Given the description of an element on the screen output the (x, y) to click on. 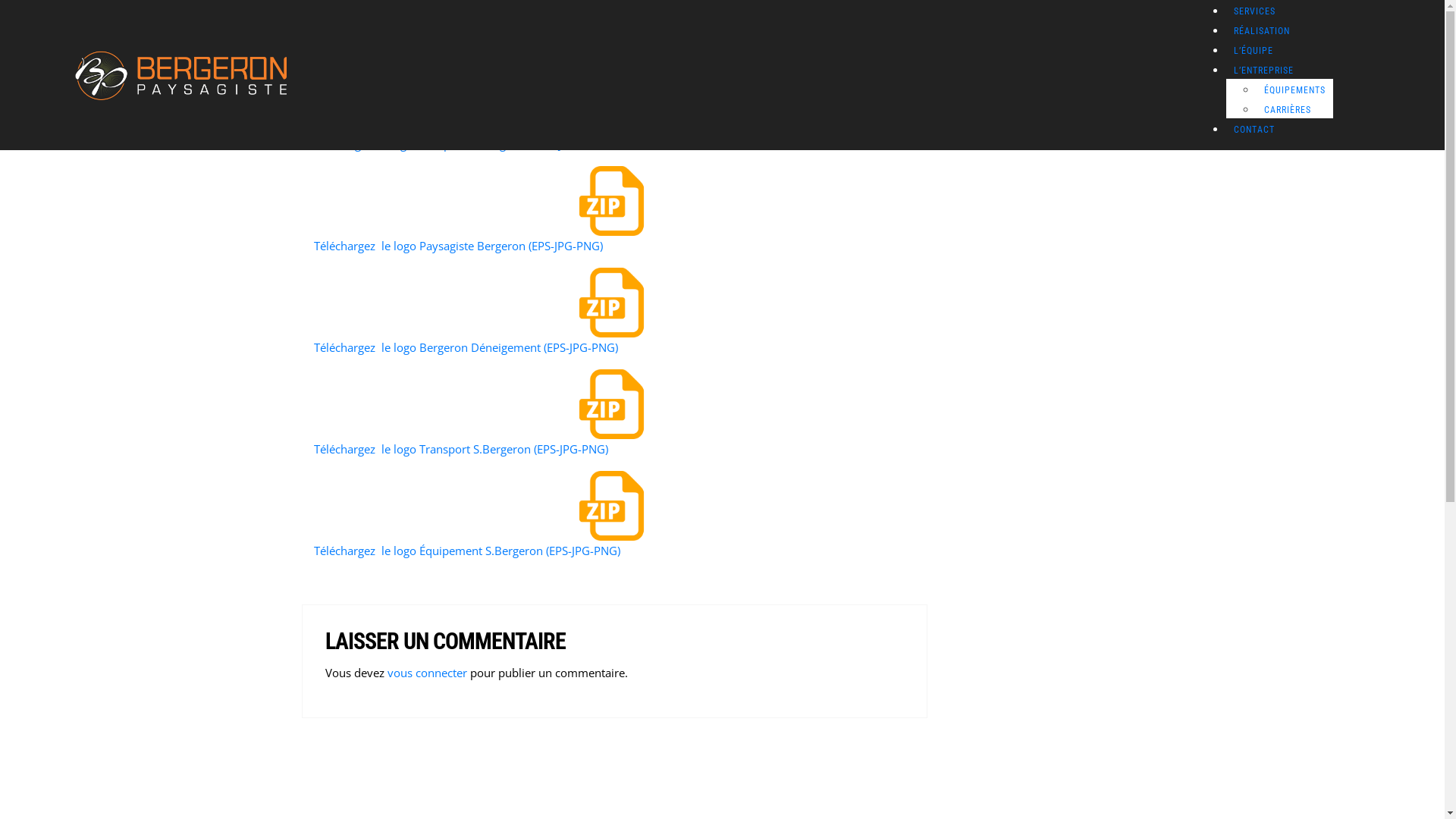
Se connecter Element type: text (189, 552)
CONTACT Element type: text (1254, 129)
vous connecter Element type: text (426, 672)
